Given the description of an element on the screen output the (x, y) to click on. 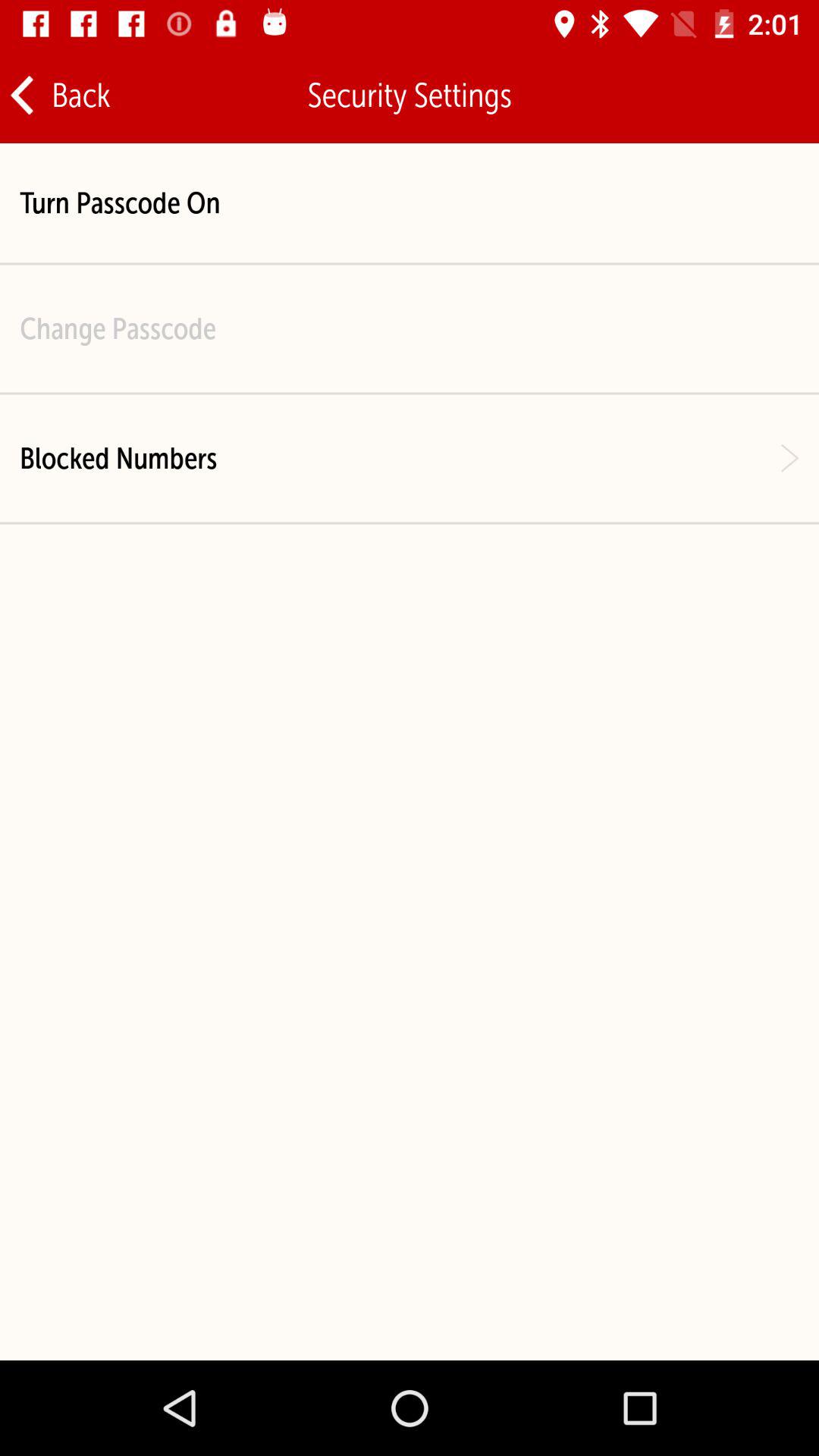
launch the icon to the left of the security settings item (59, 95)
